Given the description of an element on the screen output the (x, y) to click on. 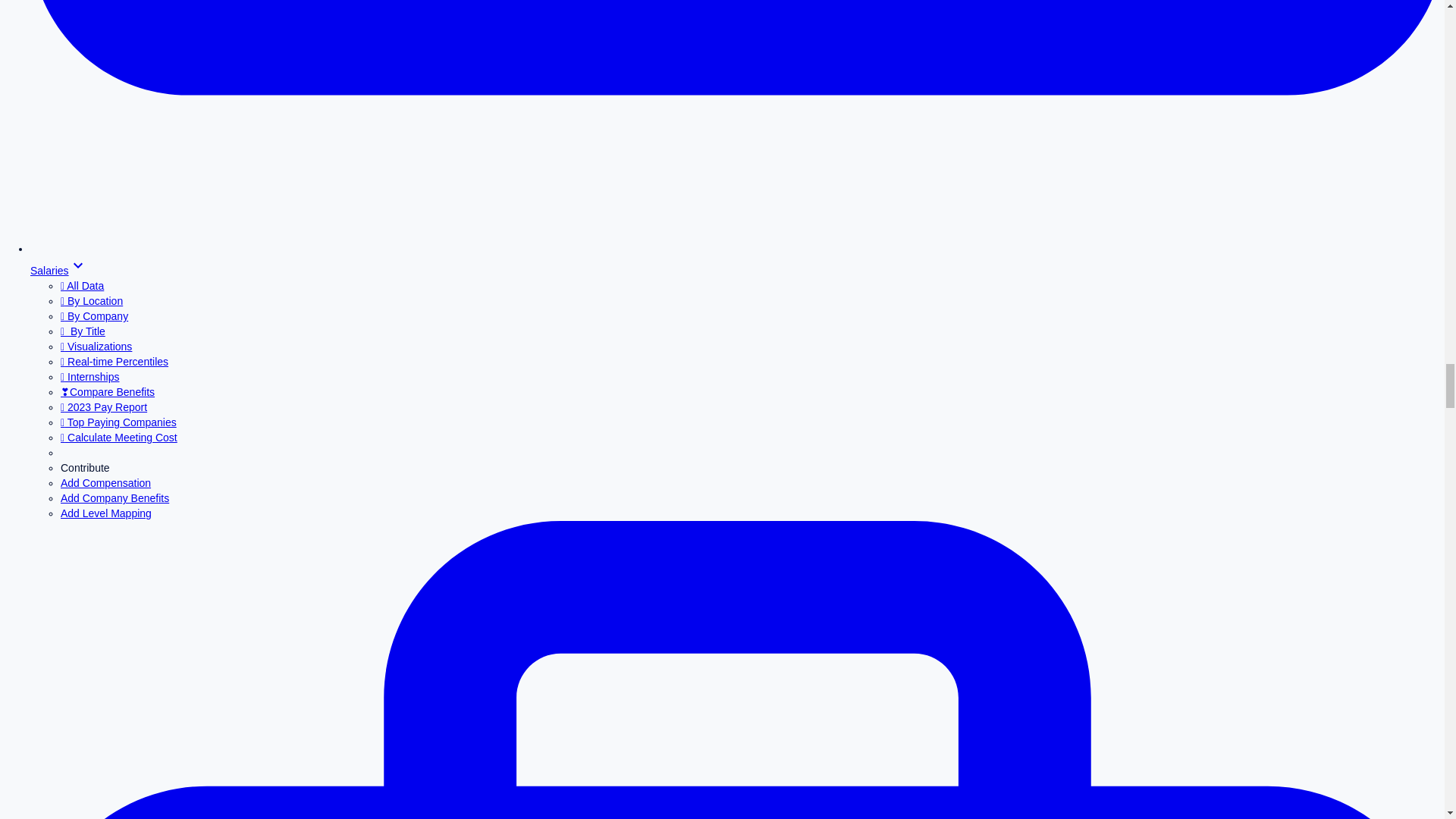
Add Compensation (106, 482)
Add Company Benefits (114, 498)
